Given the description of an element on the screen output the (x, y) to click on. 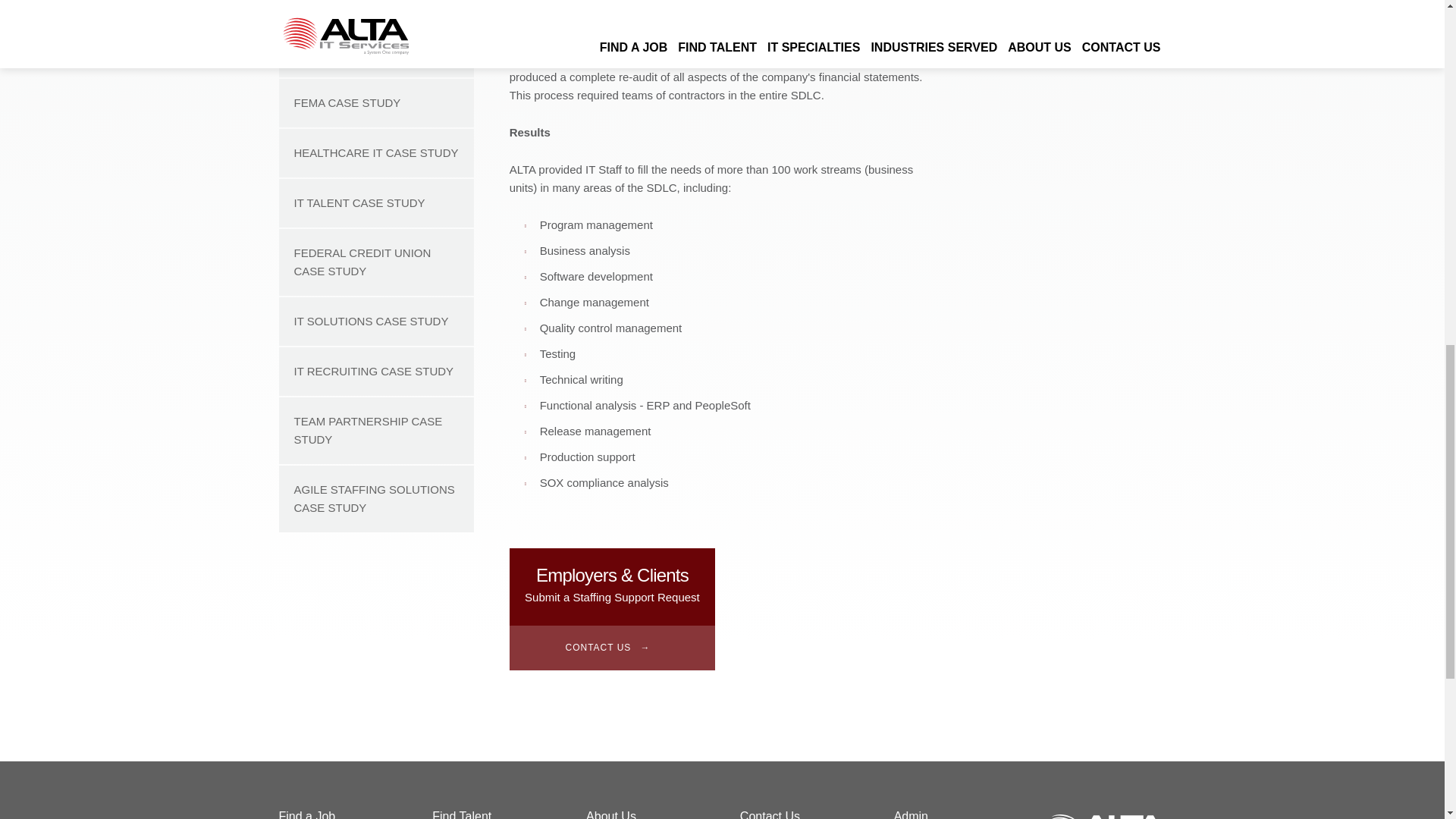
FEMA CASE STUDY (376, 102)
TREASURY DEPARTMENT CASE STUDY (376, 4)
HEALTHCARE IT CASE STUDY (376, 152)
MONTGOMERY COUNTY CASE STUDY (376, 43)
